Given the description of an element on the screen output the (x, y) to click on. 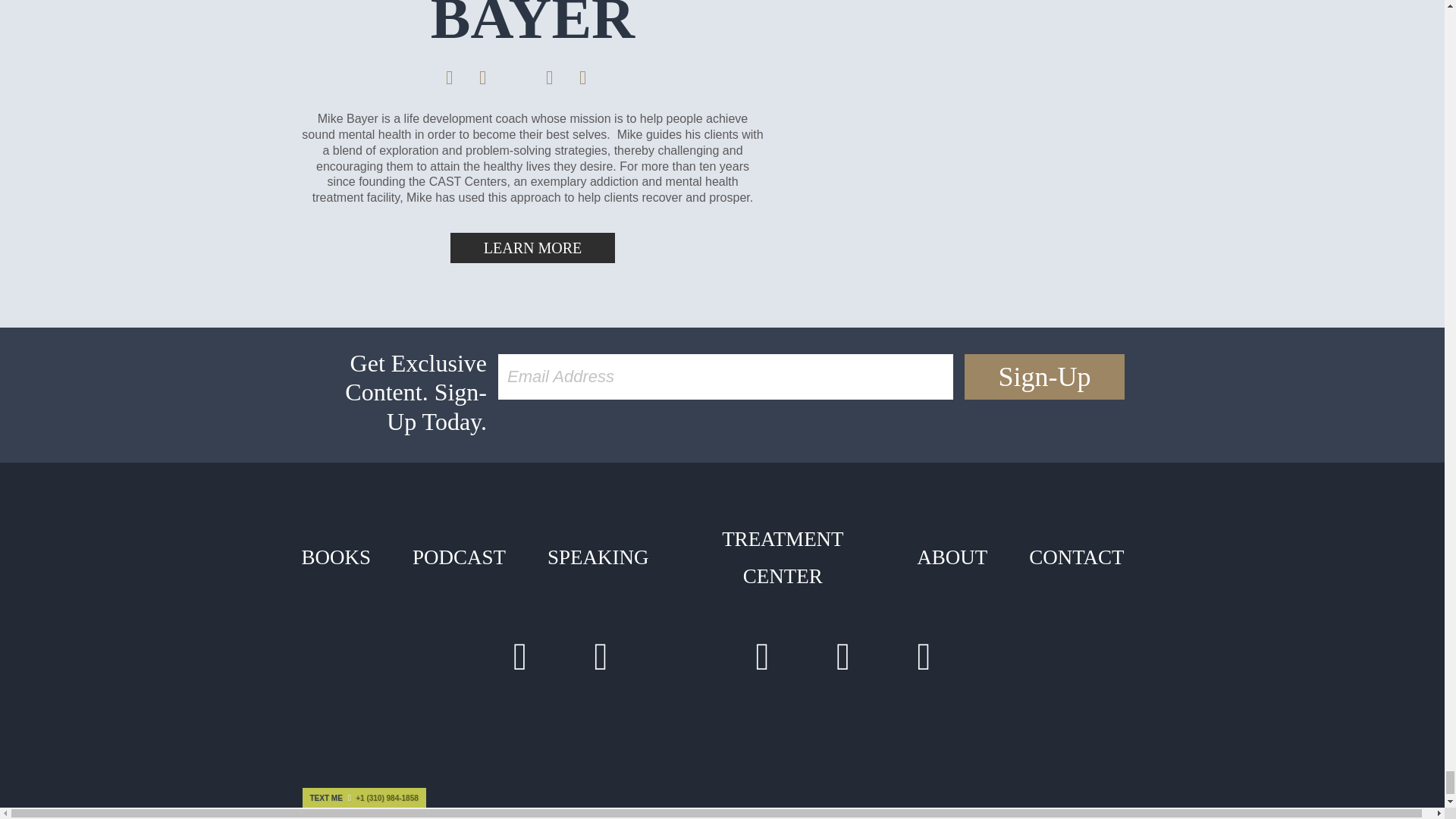
BOOKS (335, 557)
Sign-Up (1043, 376)
SPEAKING (598, 557)
PODCAST (458, 557)
LEARN MORE (531, 247)
